Given the description of an element on the screen output the (x, y) to click on. 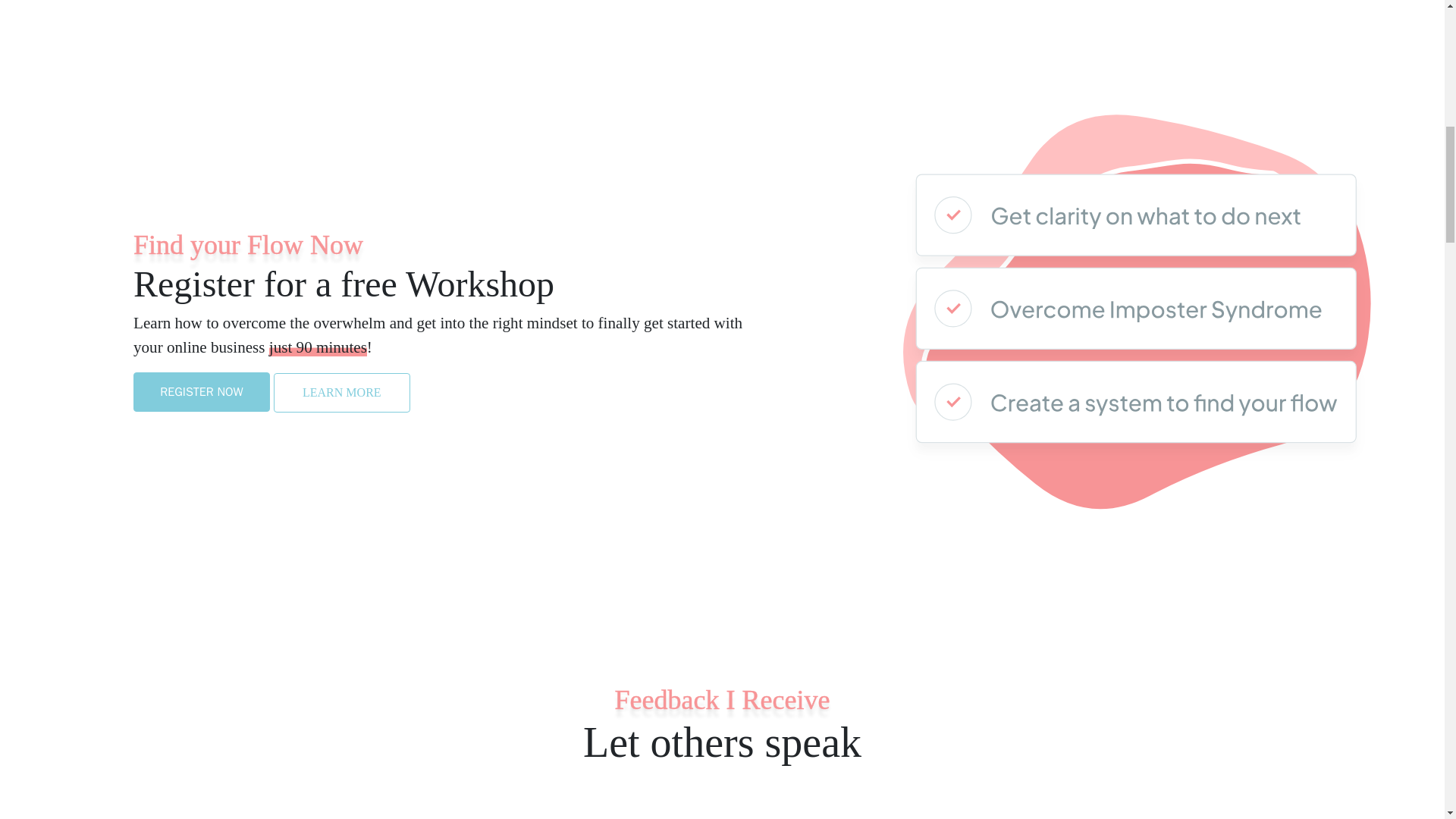
LEARN MORE (341, 392)
LEARN MORE (341, 391)
REGISTER NOW (201, 391)
